Given the description of an element on the screen output the (x, y) to click on. 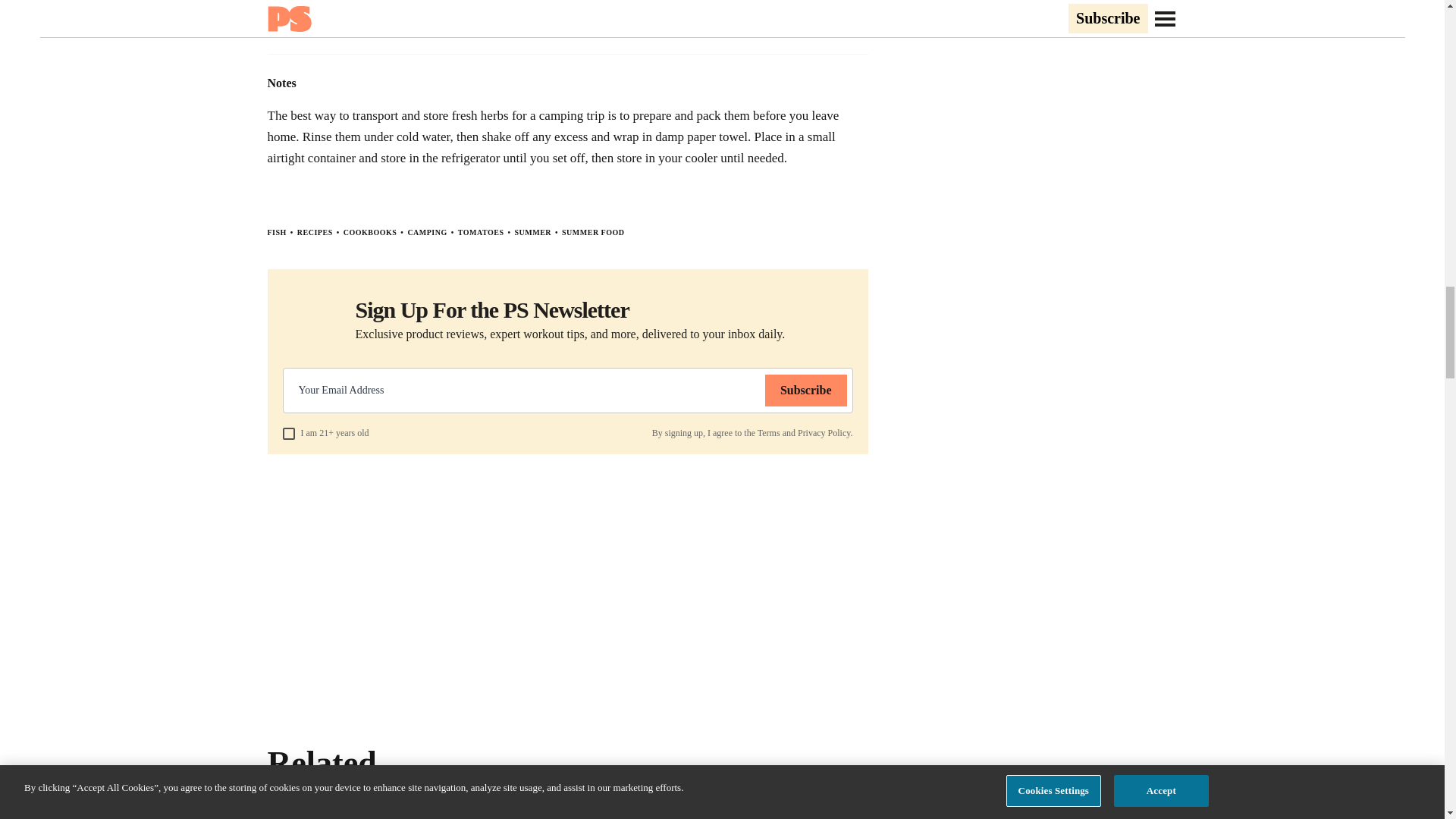
COOKBOOKS (370, 232)
Privacy Policy. (825, 432)
Subscribe (806, 390)
TOMATOES (480, 232)
RECIPE (287, 818)
Terms (768, 432)
SUMMER FOOD (593, 232)
FISH (275, 232)
RECIPES (315, 232)
SUMMER (532, 232)
CAMPING (426, 232)
